Given the description of an element on the screen output the (x, y) to click on. 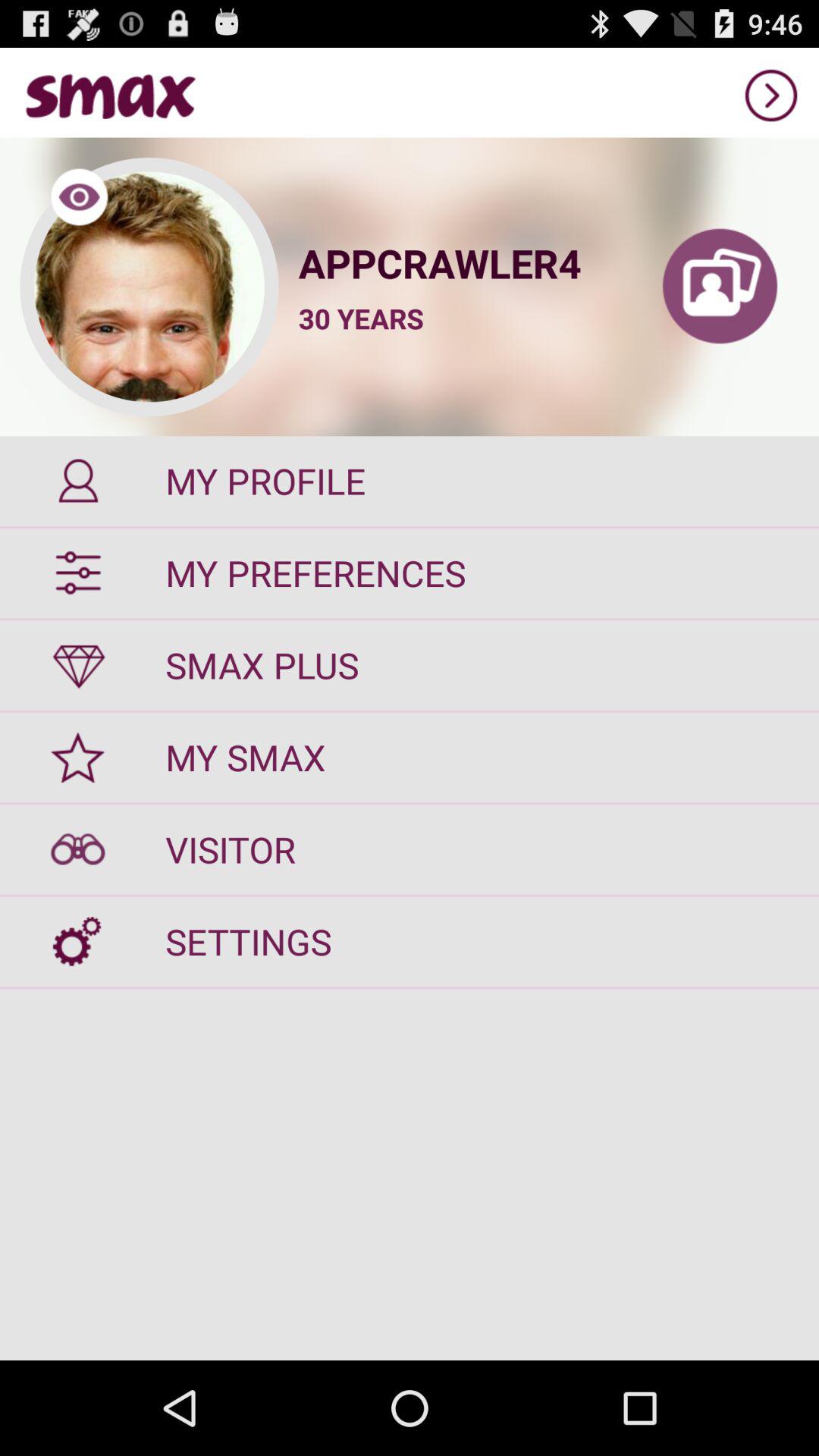
turn on the 30 years icon (360, 318)
